Given the description of an element on the screen output the (x, y) to click on. 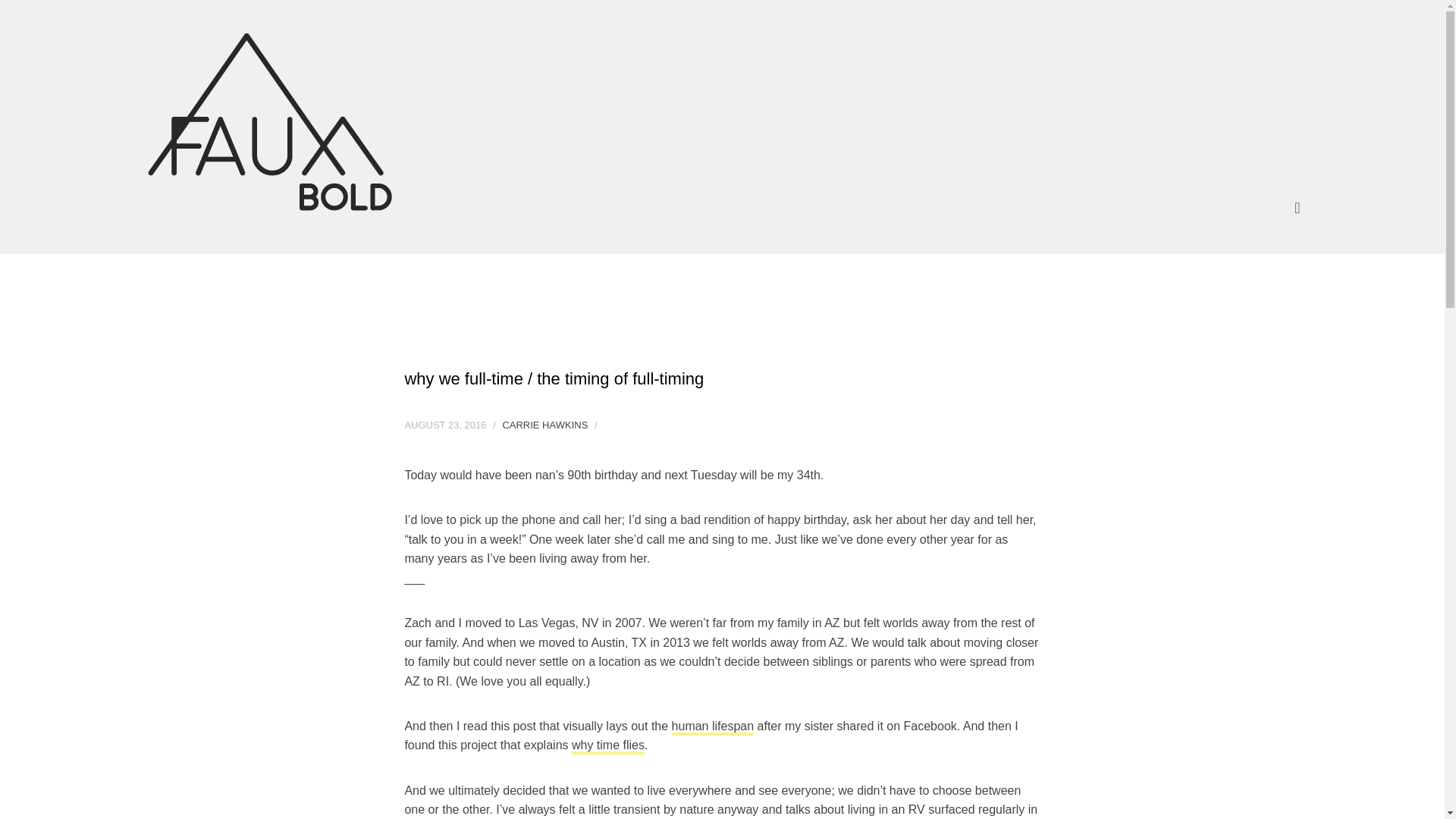
Posts by Carrie Hawkins (545, 424)
why time flies (608, 746)
CARRIE HAWKINS (545, 424)
human lifespan (712, 727)
